Given the description of an element on the screen output the (x, y) to click on. 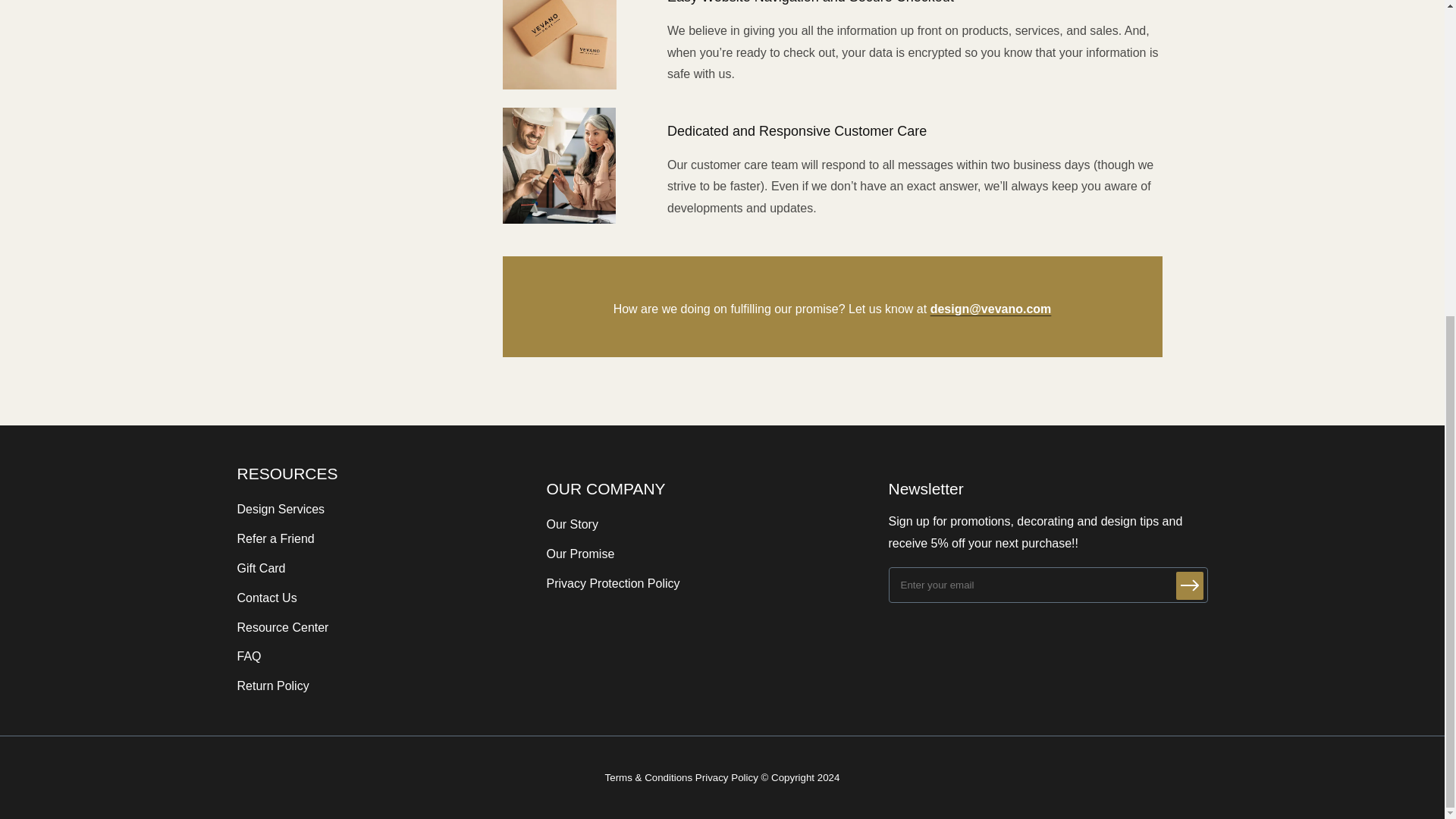
default alt tag (558, 45)
default alt tag (558, 165)
